Given the description of an element on the screen output the (x, y) to click on. 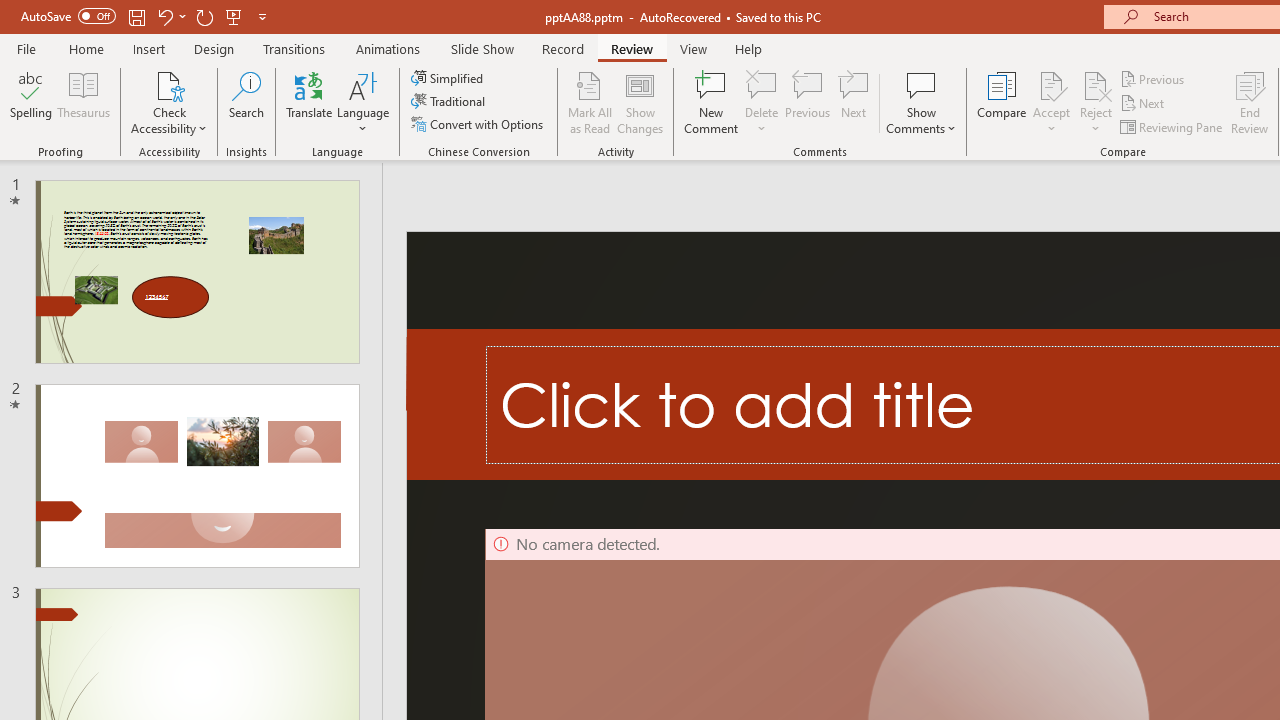
Accept Change (1051, 84)
Previous (1153, 78)
Accept (1051, 102)
Reject Change (1096, 84)
Simplified (449, 78)
Show Changes (639, 102)
Compare (1002, 102)
Next (1144, 103)
